Given the description of an element on the screen output the (x, y) to click on. 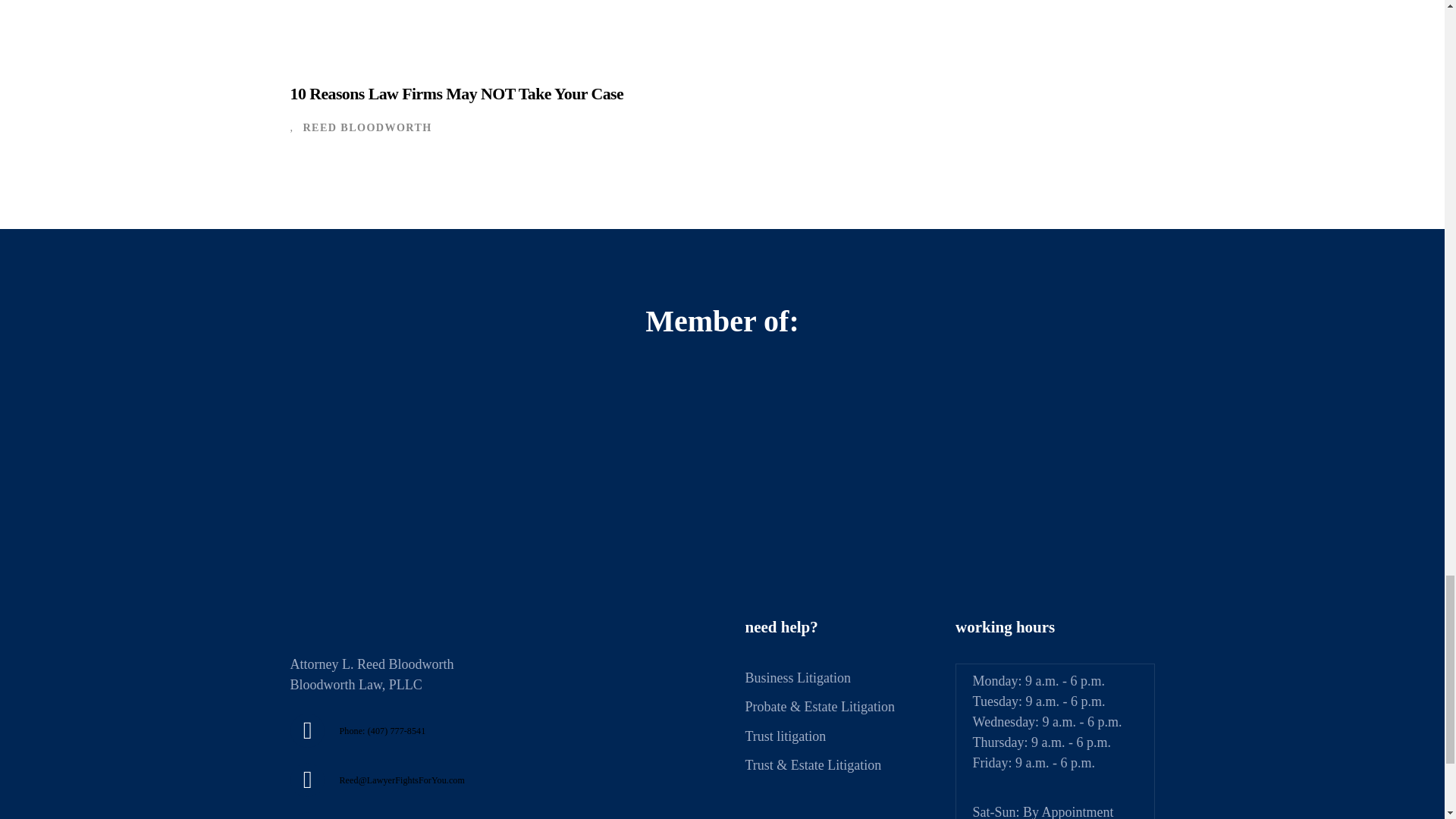
reed-bloodworth-law-pllc-associations (721, 459)
Posts by Reed Bloodworth (366, 127)
